Given the description of an element on the screen output the (x, y) to click on. 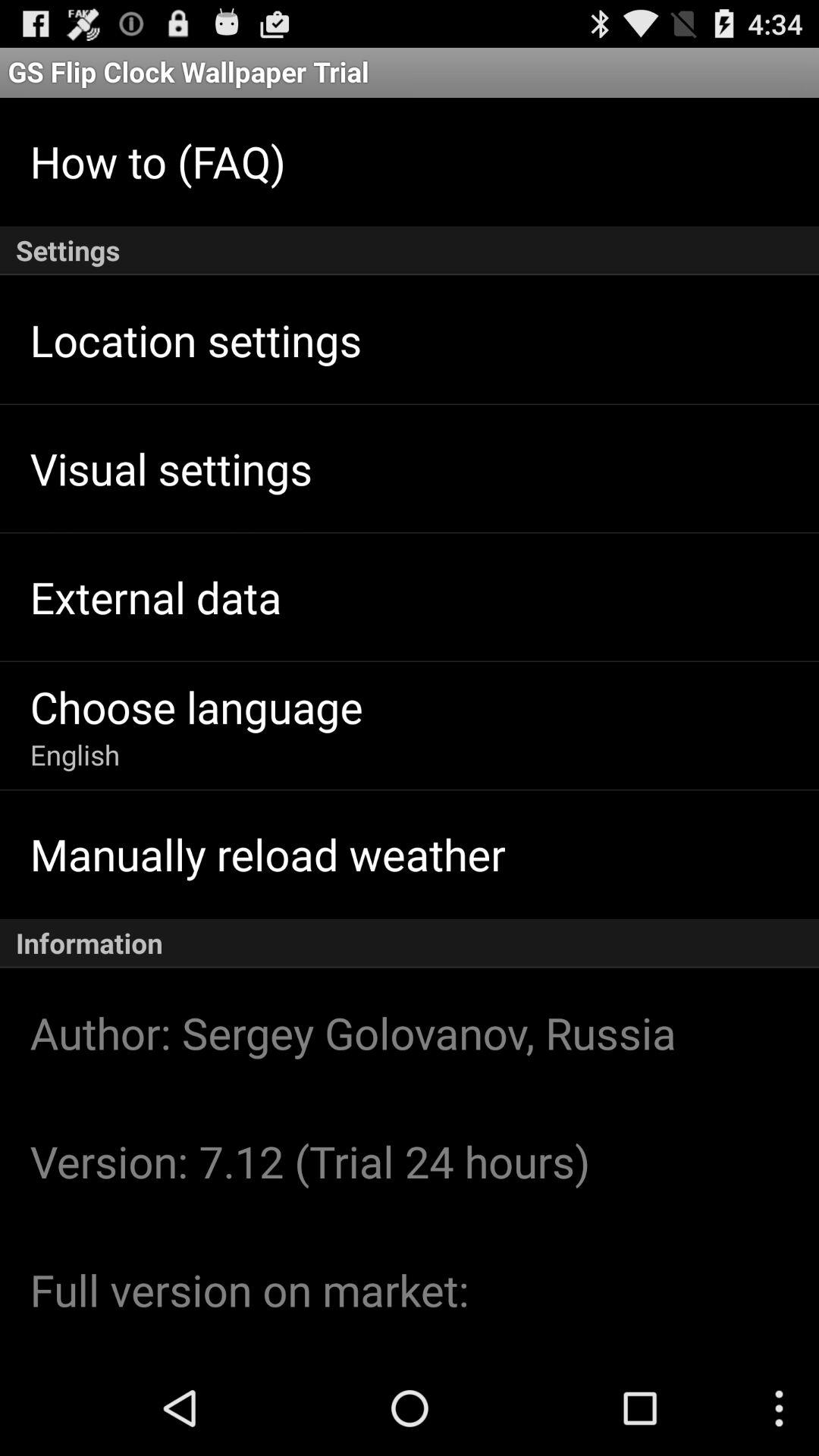
jump to visual settings item (171, 468)
